Given the description of an element on the screen output the (x, y) to click on. 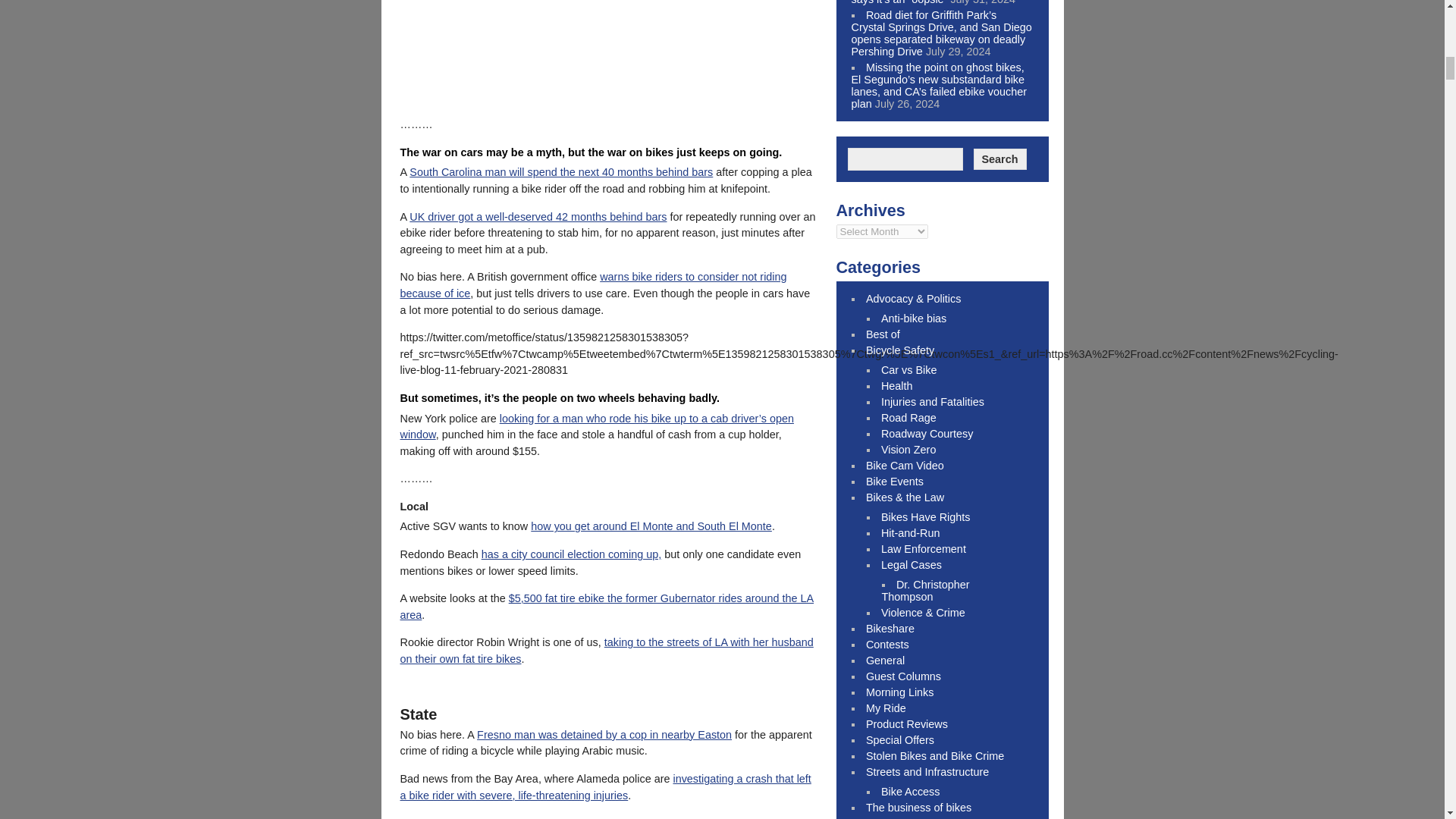
Search (1000, 158)
has a city council election coming up, (571, 553)
how you get around El Monte and South El Monte (651, 526)
Fresno man was detained by a cop in nearby Easton (604, 734)
warns bike riders to consider not riding because of ice (593, 285)
South Carolina man will spend the next 40 months behind bars (561, 172)
UK driver got a well-deserved 42 months behind bars (537, 216)
